Given the description of an element on the screen output the (x, y) to click on. 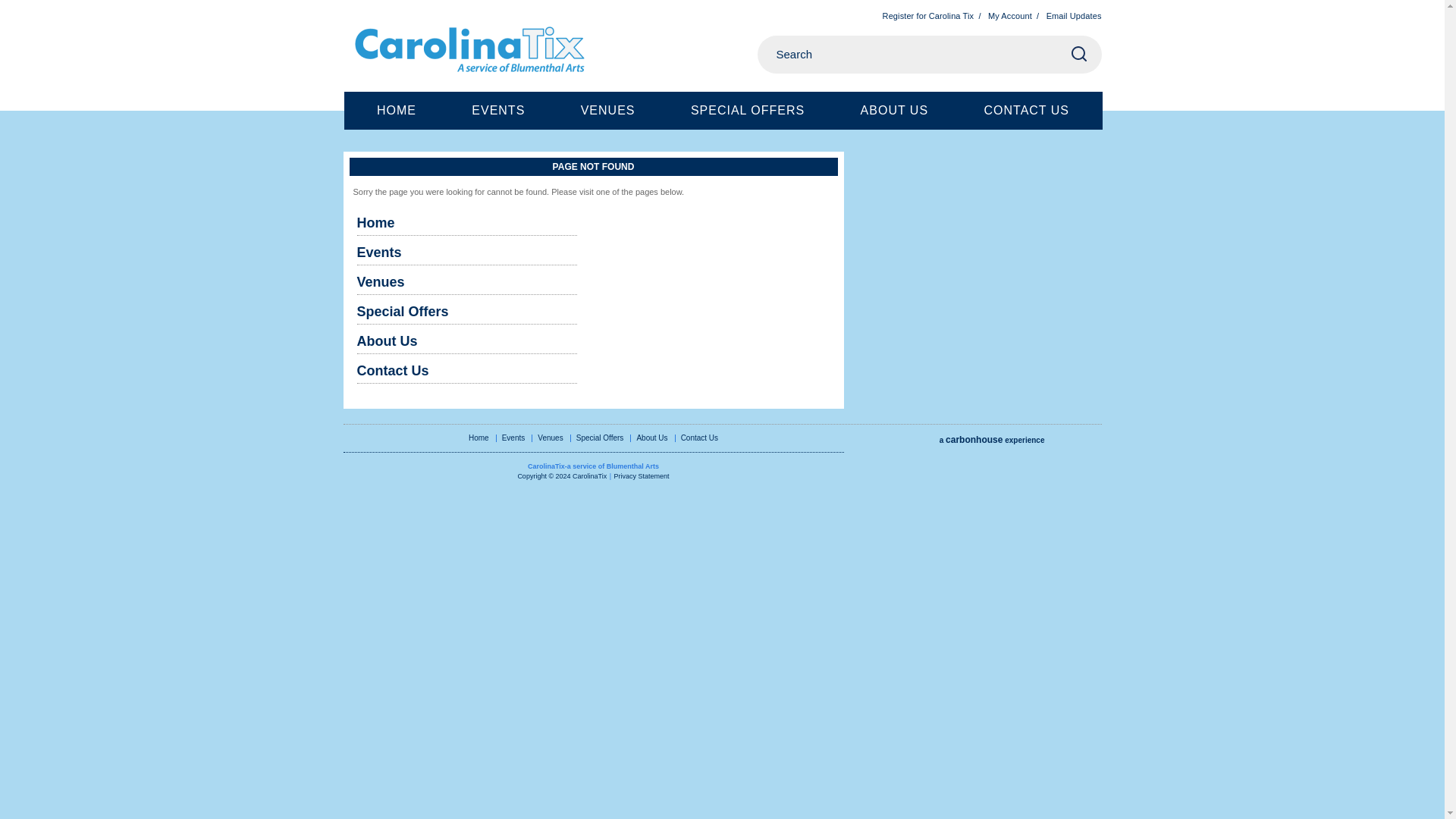
Special Offers (466, 313)
Events (466, 254)
SPECIAL OFFERS (747, 110)
Privacy Statement (641, 475)
Home (466, 224)
EVENTS (497, 110)
VENUES (607, 110)
CarolinaTix (478, 52)
About Us (466, 342)
Venues (549, 438)
